Given the description of an element on the screen output the (x, y) to click on. 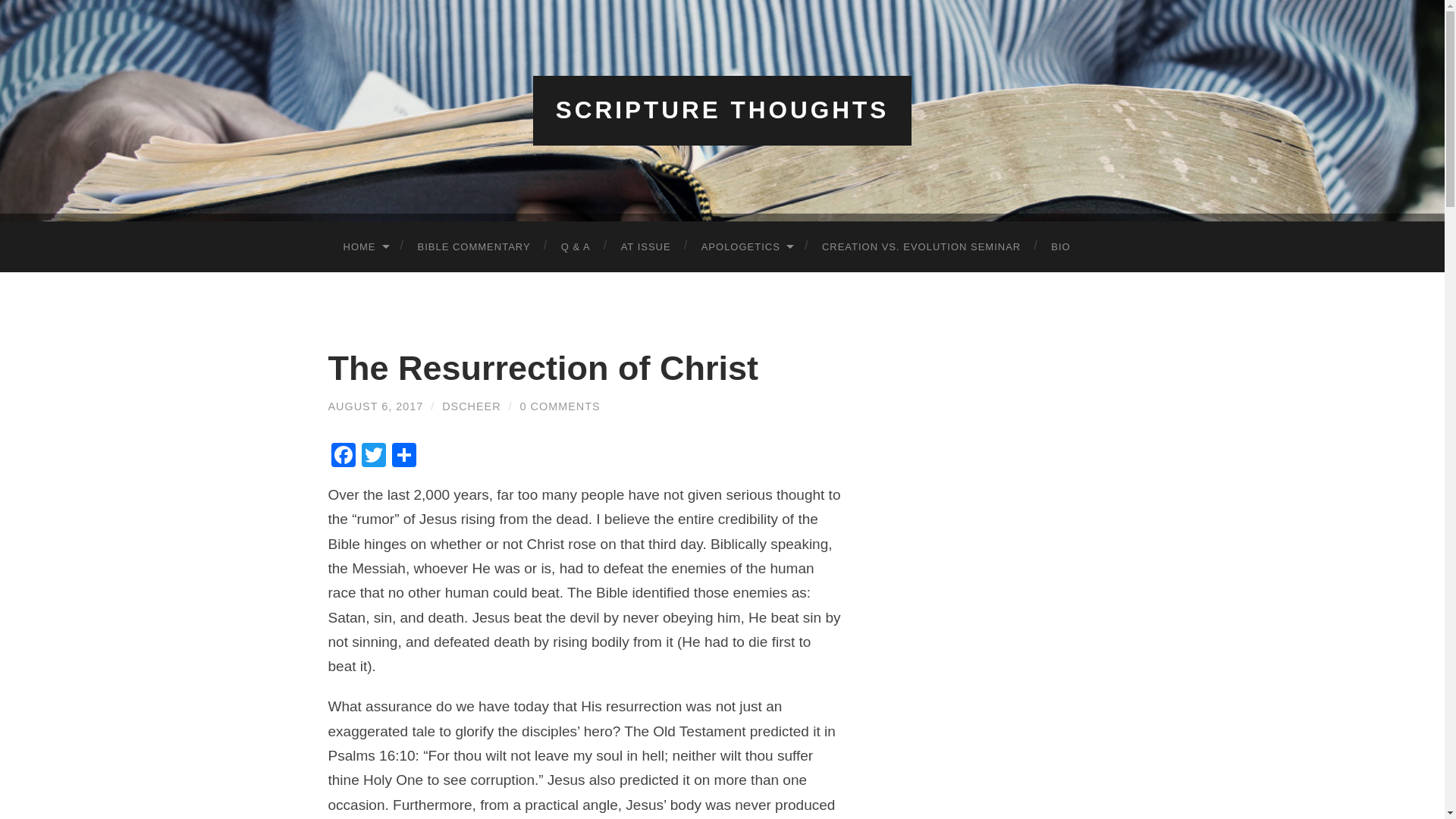
BIO (1059, 246)
AT ISSUE (645, 246)
Posts by dscheer (471, 406)
The Resurrection of Christ (542, 367)
Twitter (373, 456)
HOME (364, 246)
BIBLE COMMENTARY (472, 246)
Facebook (342, 456)
About David (1059, 246)
Facebook (342, 456)
SCRIPTURE THOUGHTS (722, 109)
AUGUST 6, 2017 (375, 406)
0 COMMENTS (559, 406)
DSCHEER (471, 406)
Twitter (373, 456)
